Given the description of an element on the screen output the (x, y) to click on. 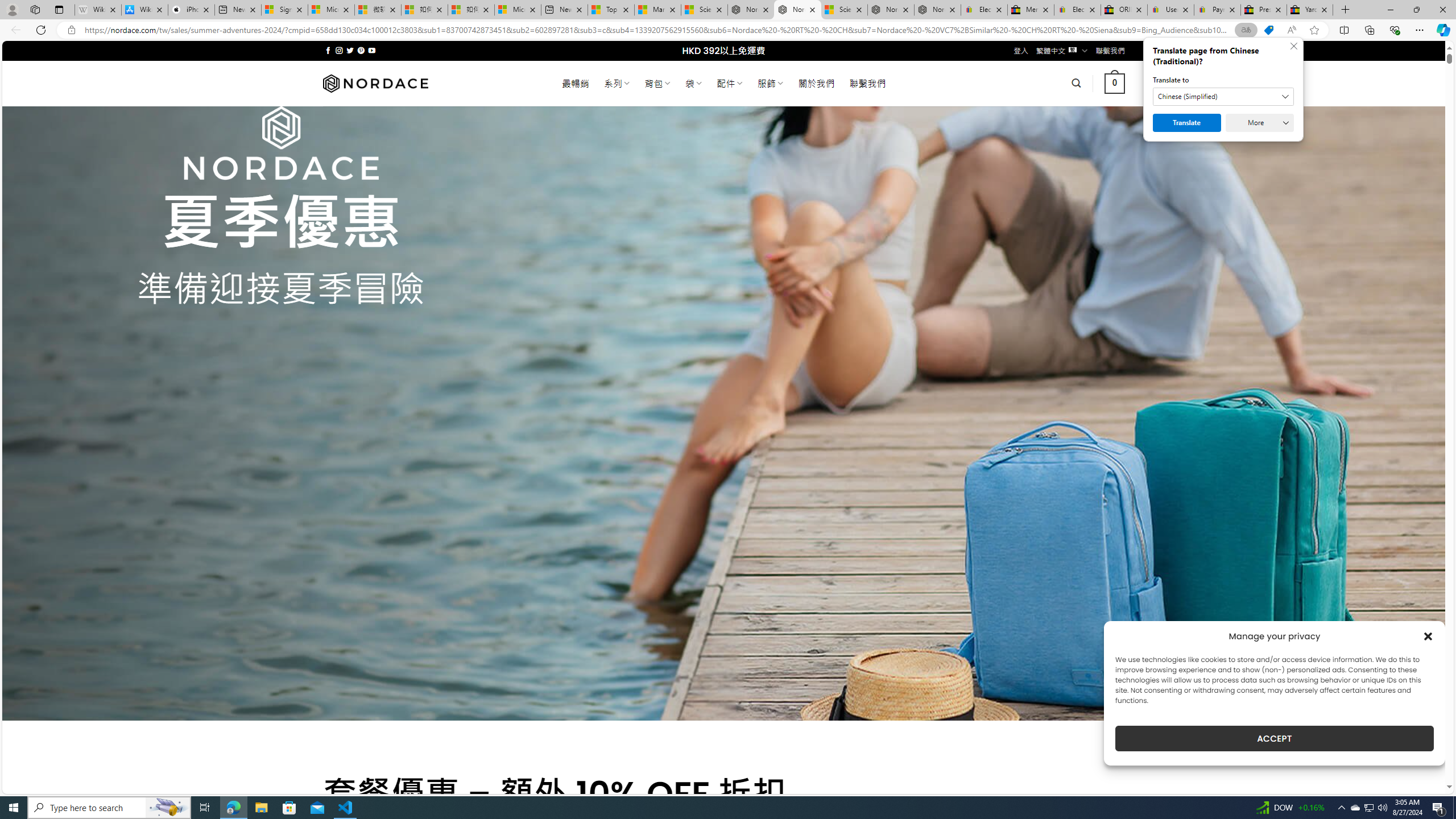
More (1259, 122)
Follow on Twitter (349, 50)
Nordace - FAQ (937, 9)
 0  (1115, 83)
